Given the description of an element on the screen output the (x, y) to click on. 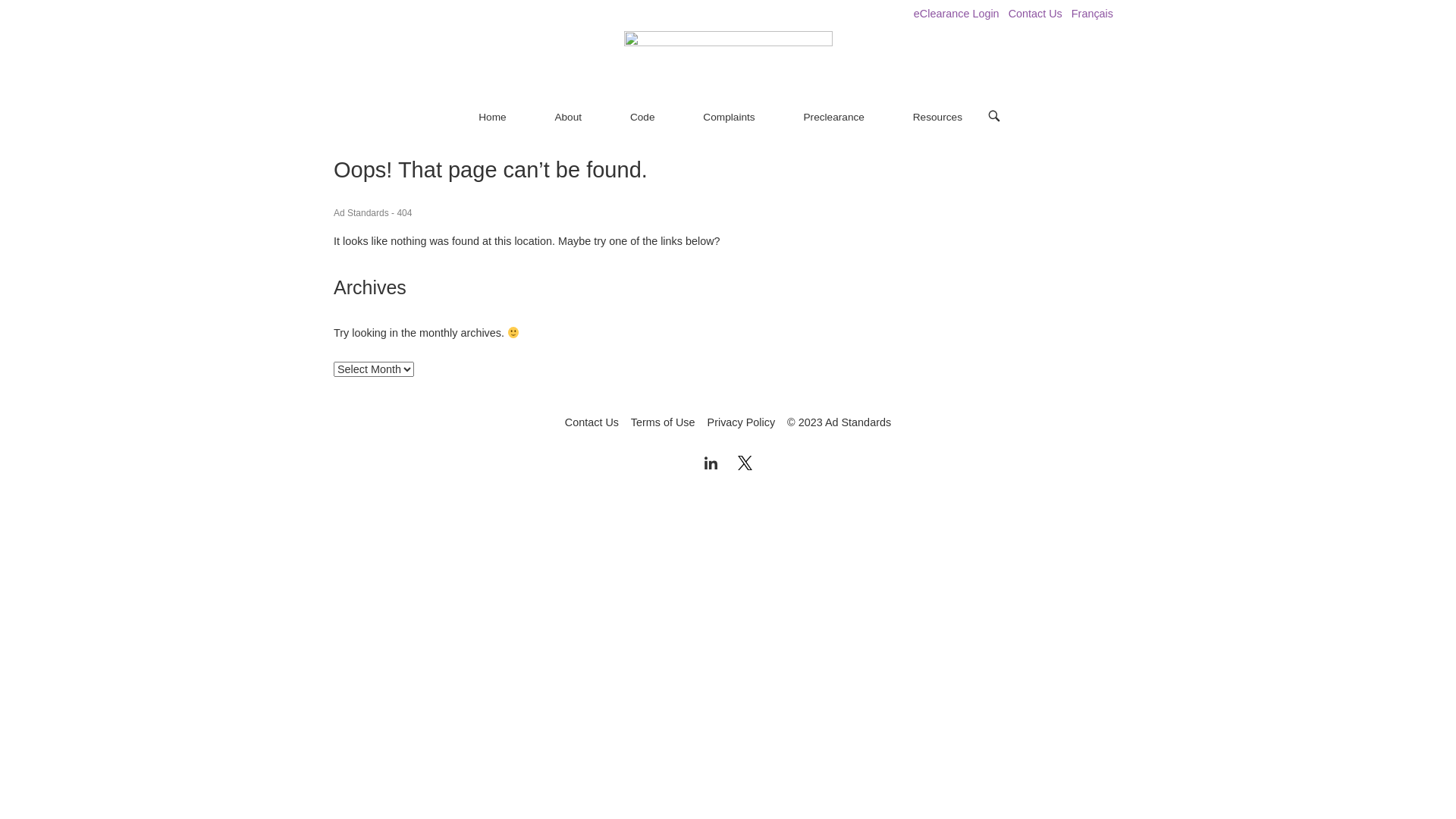
Contact Us Element type: text (591, 422)
Ad Standards Element type: text (361, 212)
OPEN SEARCH BAR Element type: text (994, 116)
Complaints Element type: text (728, 117)
Preclearance Element type: text (833, 117)
Terms of Use Element type: text (662, 422)
About Element type: text (567, 117)
Home Element type: text (491, 117)
Ad Standards on Linkedin Element type: hover (710, 464)
Privacy Policy Element type: text (741, 422)
Code Element type: text (642, 117)
Resources Element type: text (937, 117)
Ad Standards on X Element type: hover (744, 464)
